Given the description of an element on the screen output the (x, y) to click on. 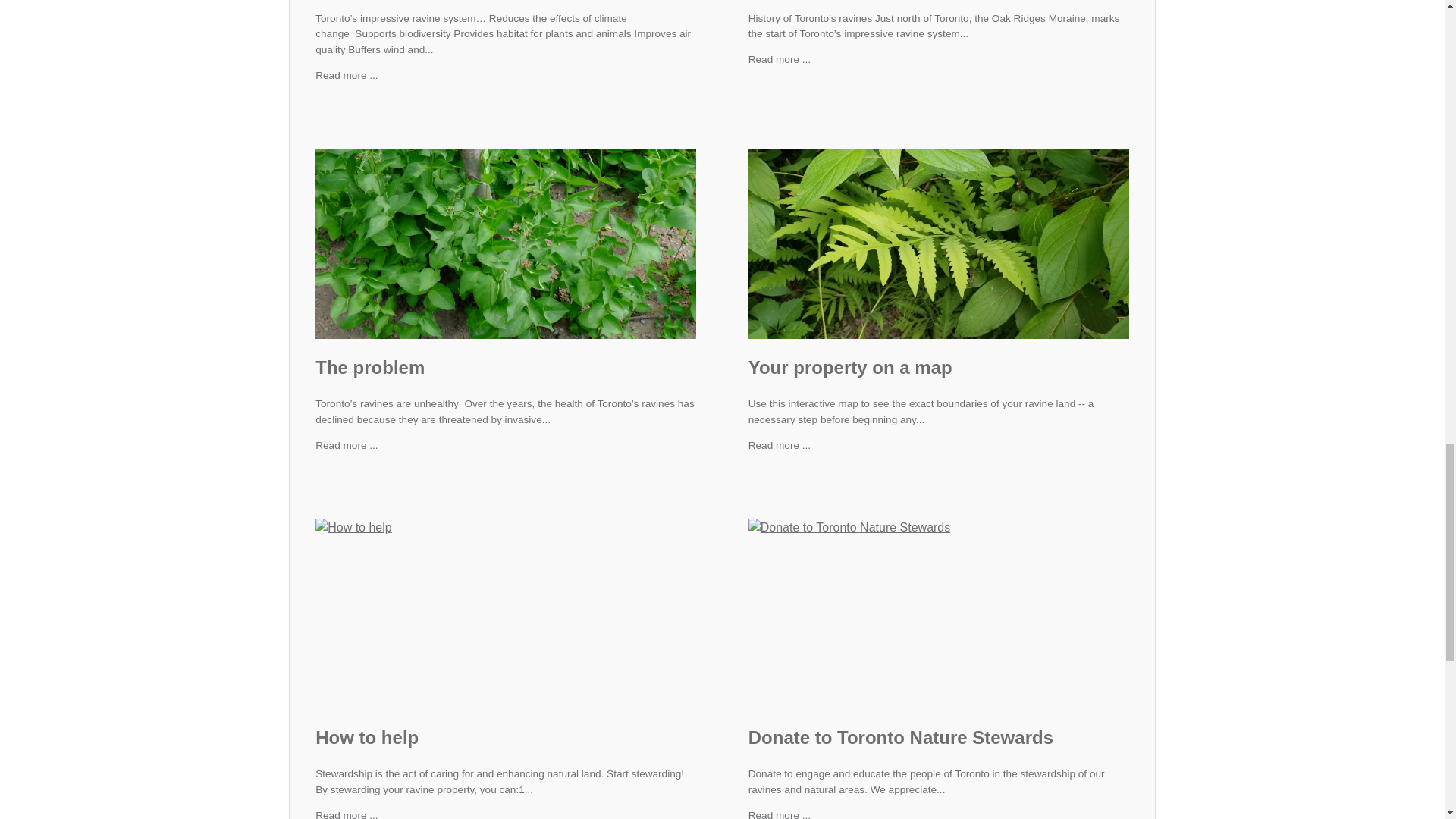
Read more ... (346, 75)
Your property on a map (850, 367)
How to help (367, 737)
The problem (505, 243)
Read more ... (779, 59)
Read more ... (346, 445)
The problem (370, 367)
Read more ... (779, 445)
Read more ... (346, 445)
Your property on a map (938, 243)
